Given the description of an element on the screen output the (x, y) to click on. 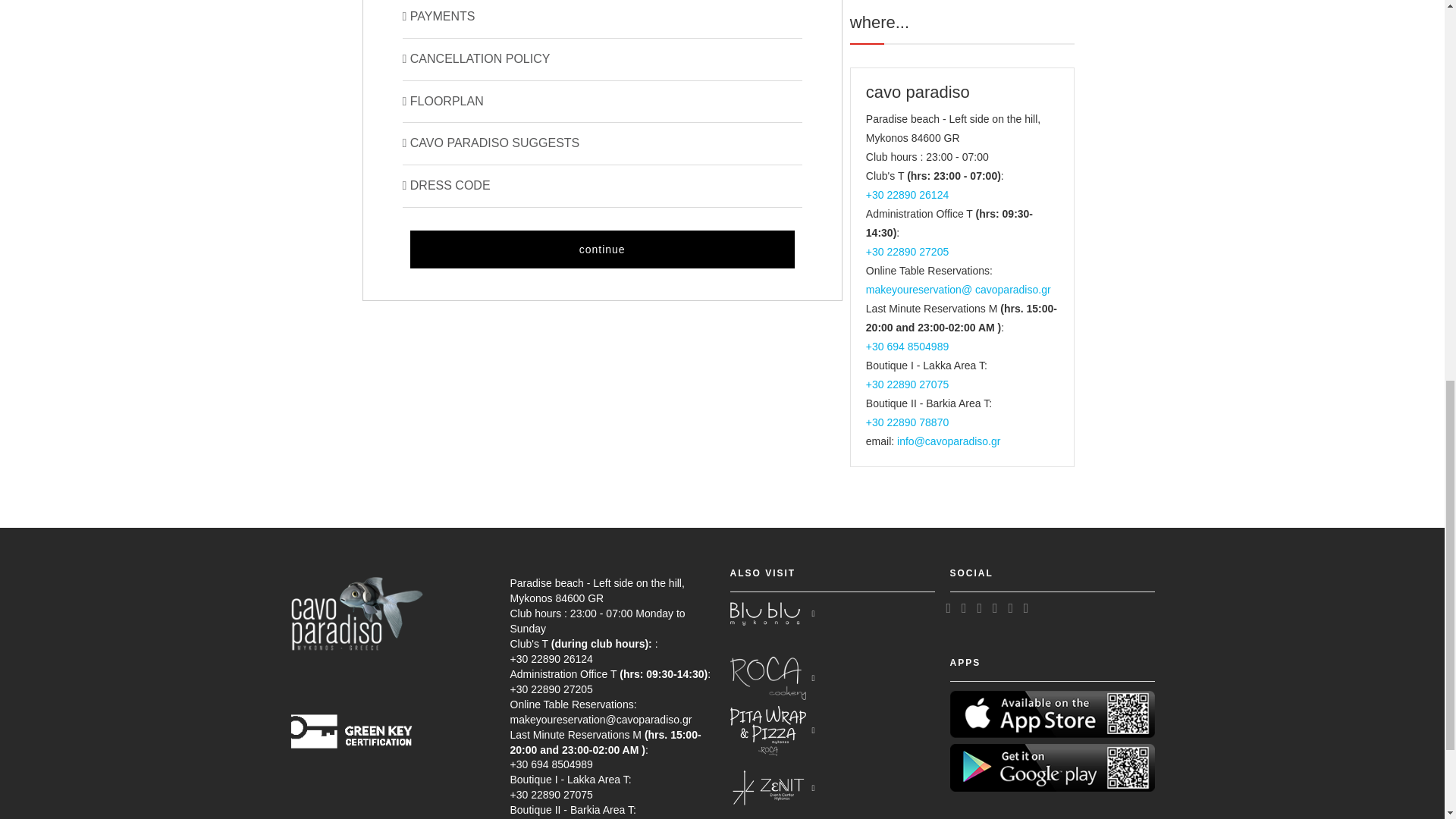
call the club (907, 194)
download cavo paradiso's green key certificate (356, 712)
call boutique at Lakka area (907, 384)
send email to make a table reservation (958, 289)
call for last minute table reservations (907, 346)
Continue (601, 249)
call boutique at Barkia (907, 422)
call the administration office (907, 251)
send an email to info (948, 440)
